Given the description of an element on the screen output the (x, y) to click on. 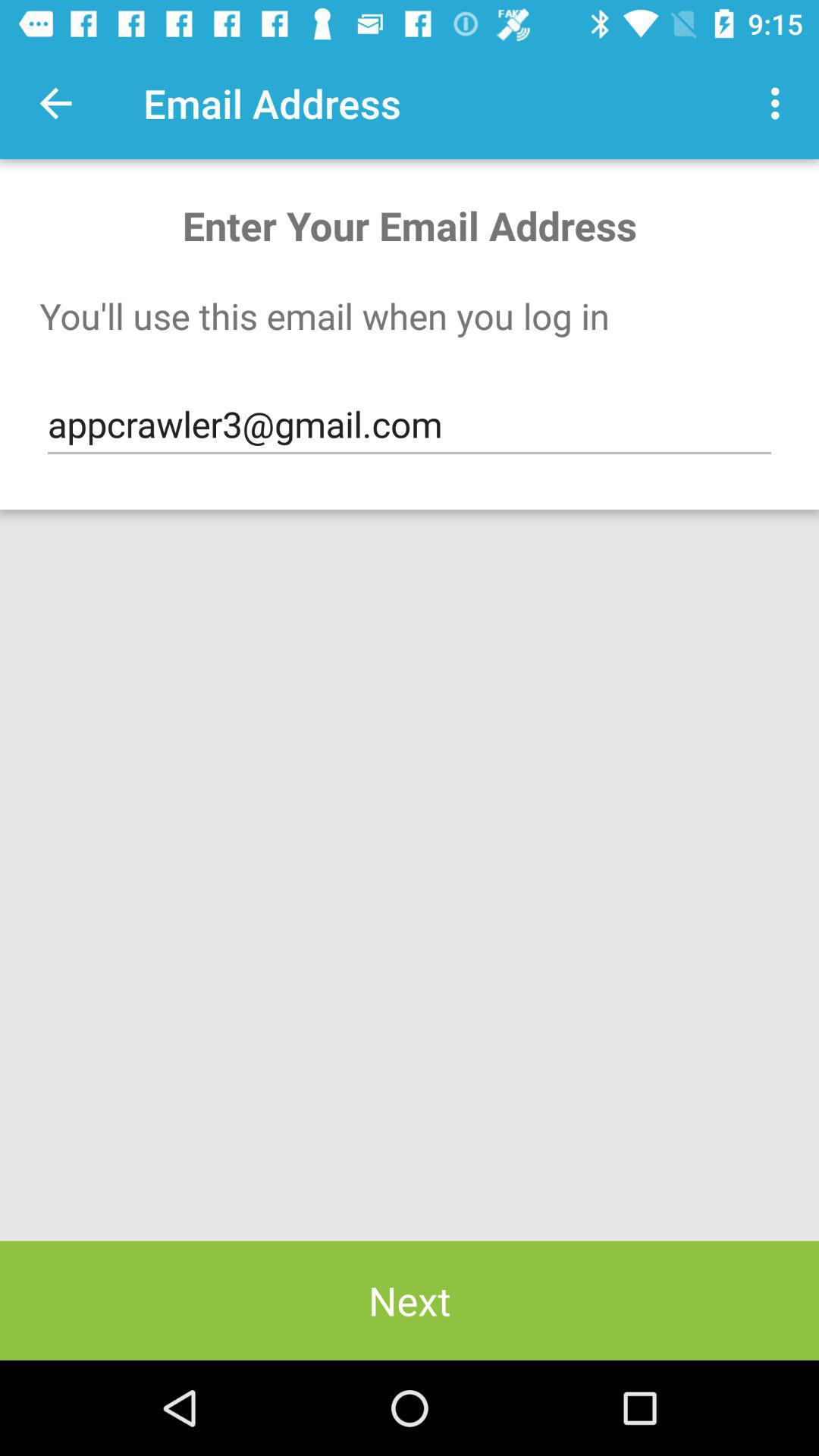
turn off icon to the right of email address item (779, 103)
